Given the description of an element on the screen output the (x, y) to click on. 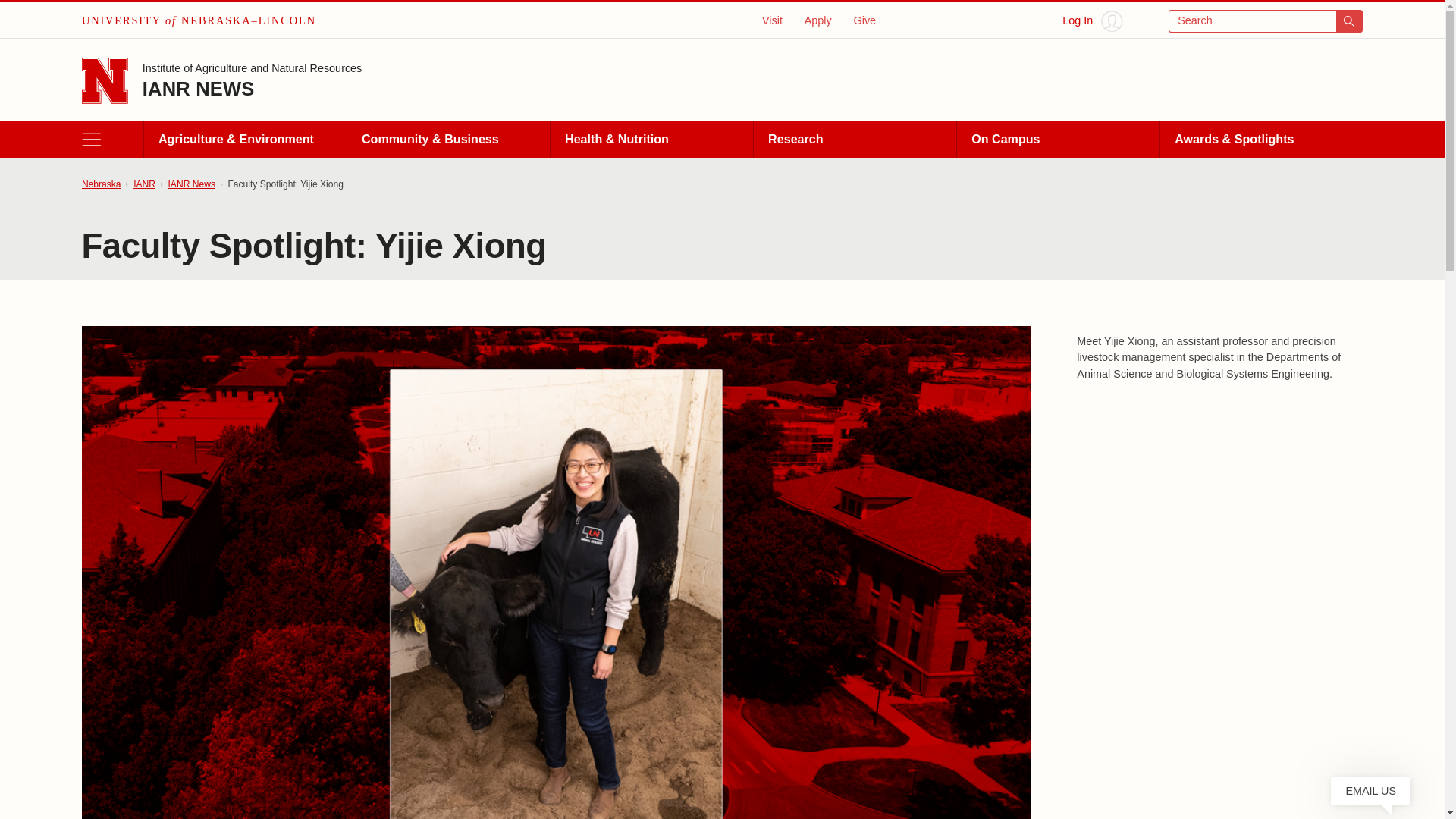
Nebraska (100, 183)
Search (1265, 21)
Visit (772, 20)
Give (864, 20)
IANR News (191, 183)
Research (854, 139)
IANR NEWS (198, 88)
IANR (144, 183)
On Campus (1057, 139)
Institute of Agriculture and Natural Resources (252, 69)
